Given the description of an element on the screen output the (x, y) to click on. 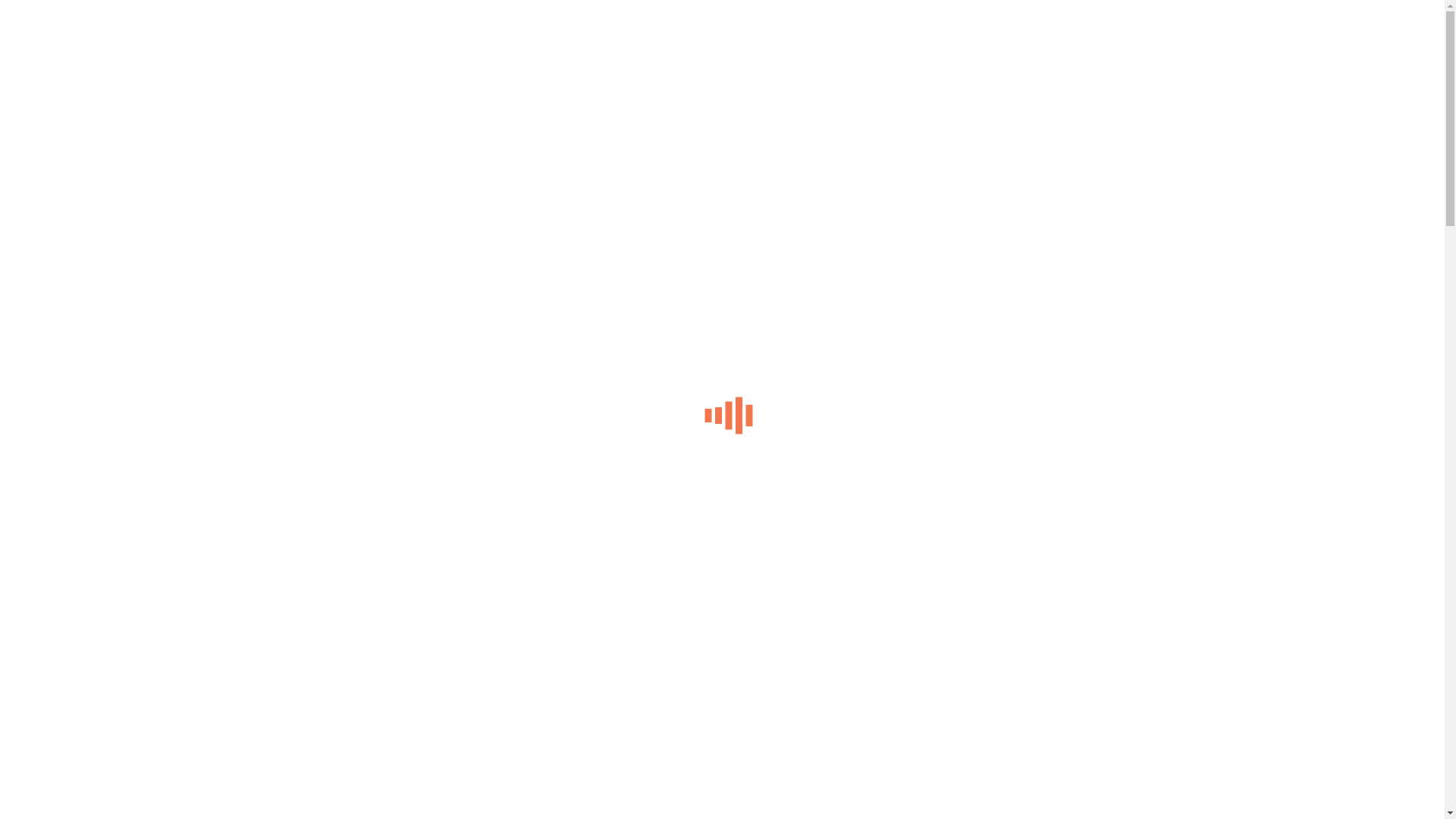
Blogs Element type: text (50, 228)
Services Element type: text (56, 187)
Build Business Easy Way Element type: text (98, 308)
Home Element type: text (50, 422)
Skip to content Element type: text (5, 5)
About us Element type: text (58, 173)
Build Business Easy Way Element type: text (98, 214)
Blogs Element type: text (50, 322)
Home Element type: text (50, 159)
Services Element type: text (56, 281)
About us Element type: text (58, 267)
Contact Element type: text (55, 294)
Home Element type: text (50, 253)
Contact Element type: text (55, 200)
